Given the description of an element on the screen output the (x, y) to click on. 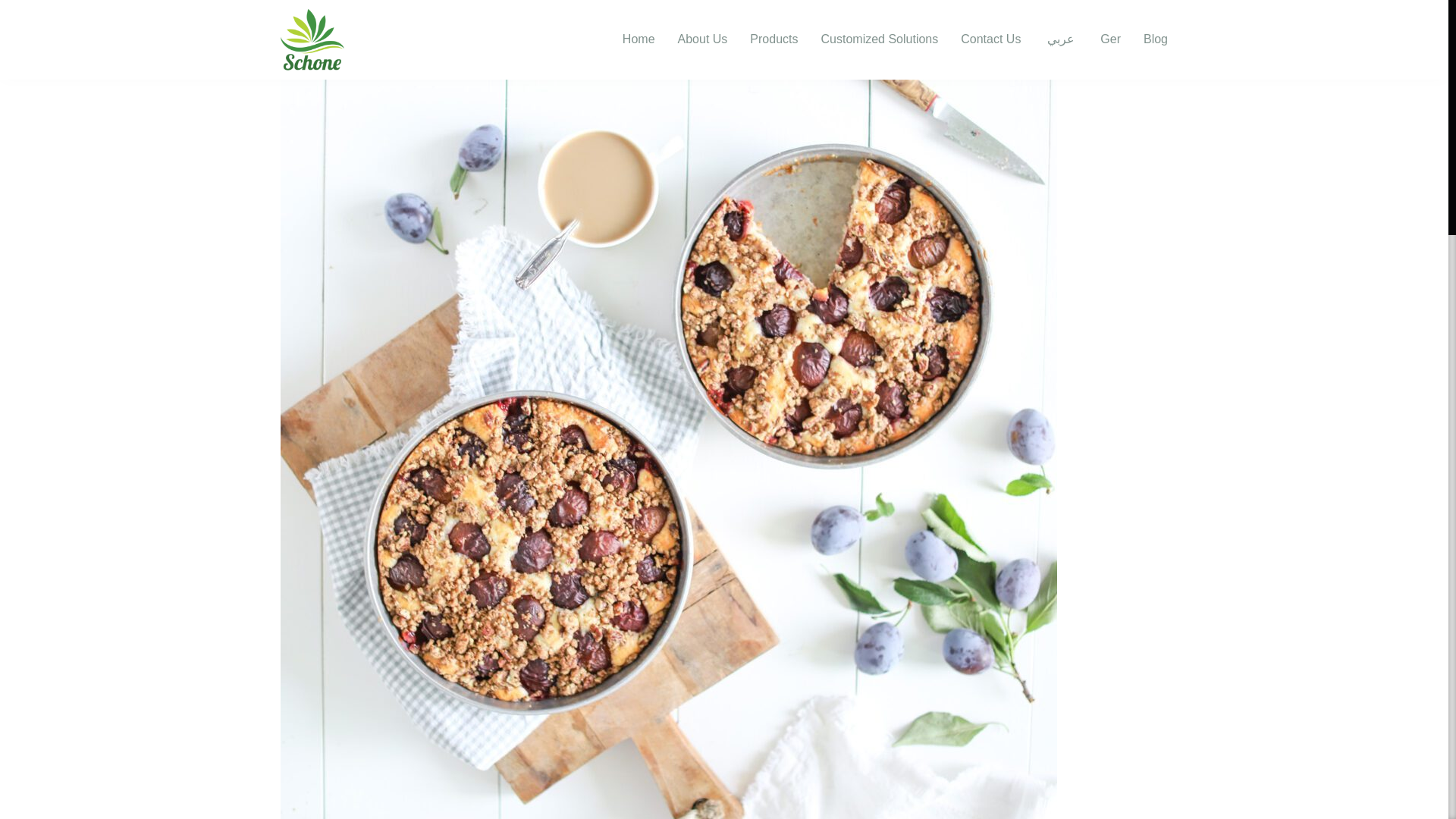
Ger (1109, 38)
About Us (703, 38)
About Us (703, 38)
Contact Us (990, 38)
Contact Us (990, 38)
Home (639, 38)
Products (773, 38)
Customized Solutions (879, 38)
Blog (1154, 38)
Customized Solutions (879, 38)
 Ger (1109, 38)
Blog (1154, 38)
Products (773, 38)
Home (639, 38)
